Given the description of an element on the screen output the (x, y) to click on. 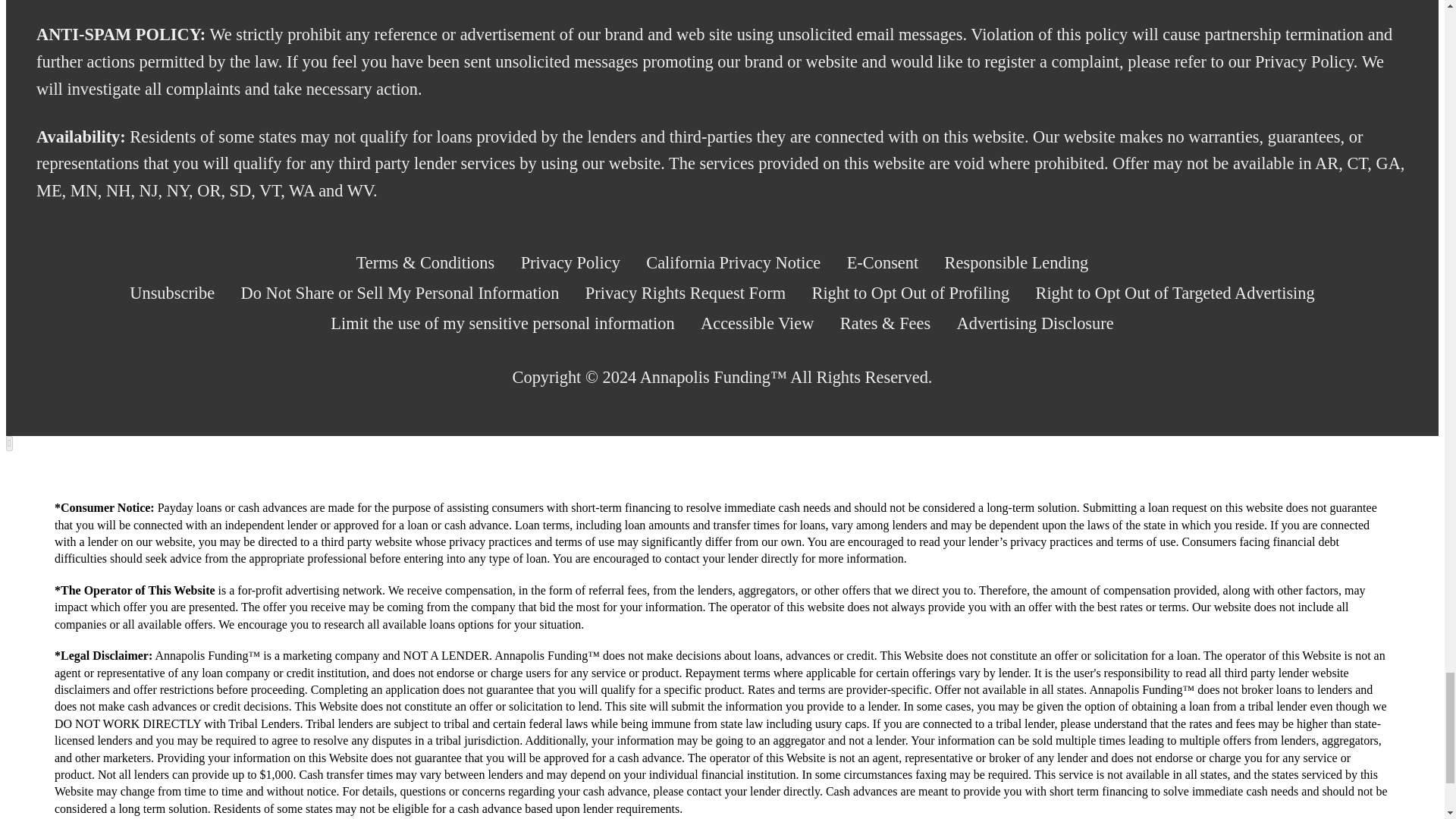
California Privacy Notice (733, 262)
Privacy Rights Request Form (685, 293)
Responsible Lending (1016, 262)
Do Not Share or Sell My Personal Information (400, 293)
Accessible View (756, 323)
Right to Opt Out of Targeted Advertising (1174, 293)
Privacy Policy (570, 262)
E-Consent (882, 262)
Right to Opt Out of Profiling (909, 293)
Limit the use of my sensitive personal information (502, 323)
